Given the description of an element on the screen output the (x, y) to click on. 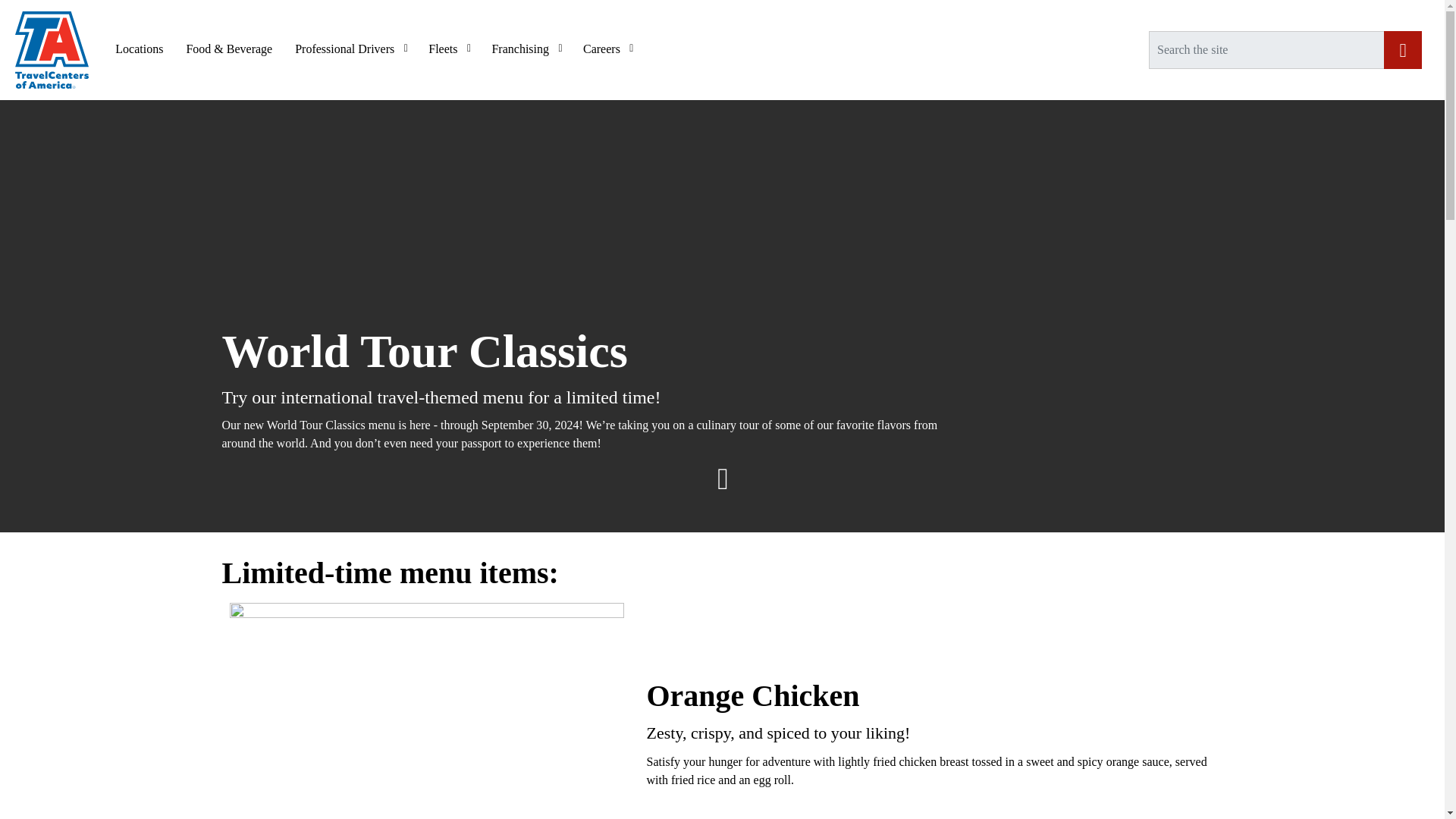
Franchising (526, 49)
Careers (607, 49)
Fleets (448, 49)
Locations (138, 49)
Travel Centers of America (51, 49)
Professional Drivers (349, 49)
